Given the description of an element on the screen output the (x, y) to click on. 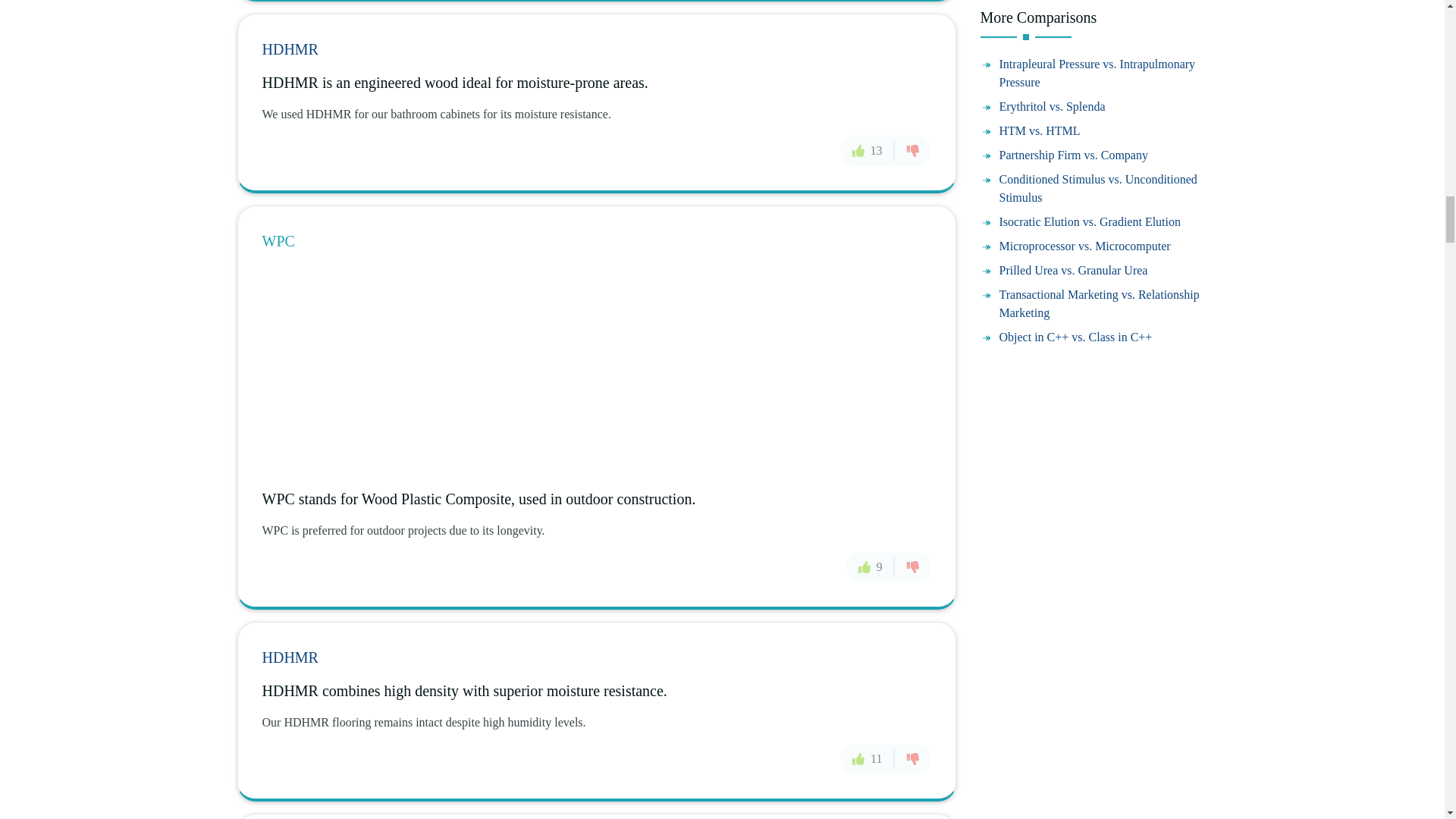
9 (870, 567)
13 (867, 150)
